Given the description of an element on the screen output the (x, y) to click on. 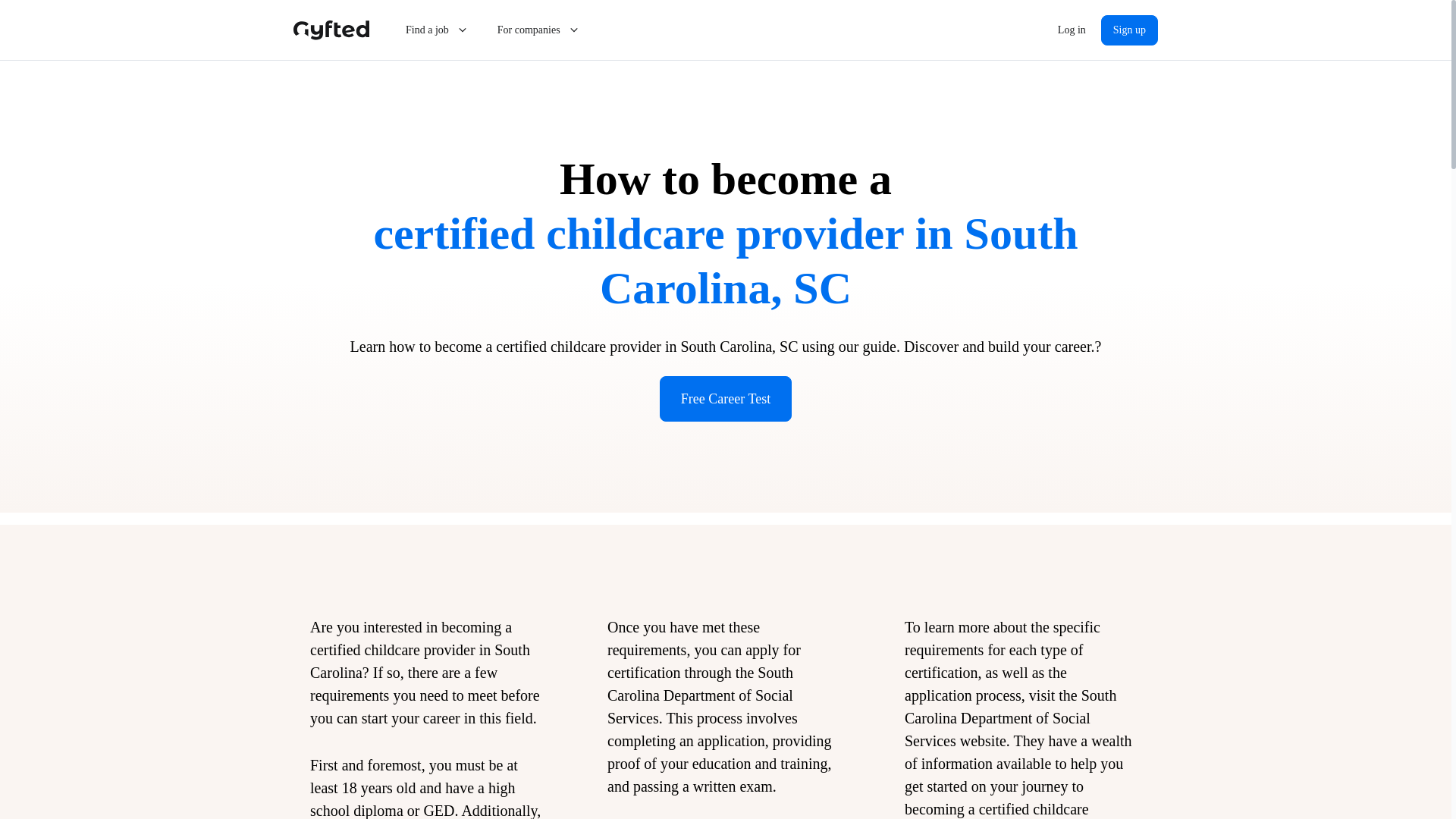
Free Career Test (725, 398)
Find a job (437, 30)
For companies (539, 30)
Sign up (1128, 30)
Log in (1071, 30)
